Given the description of an element on the screen output the (x, y) to click on. 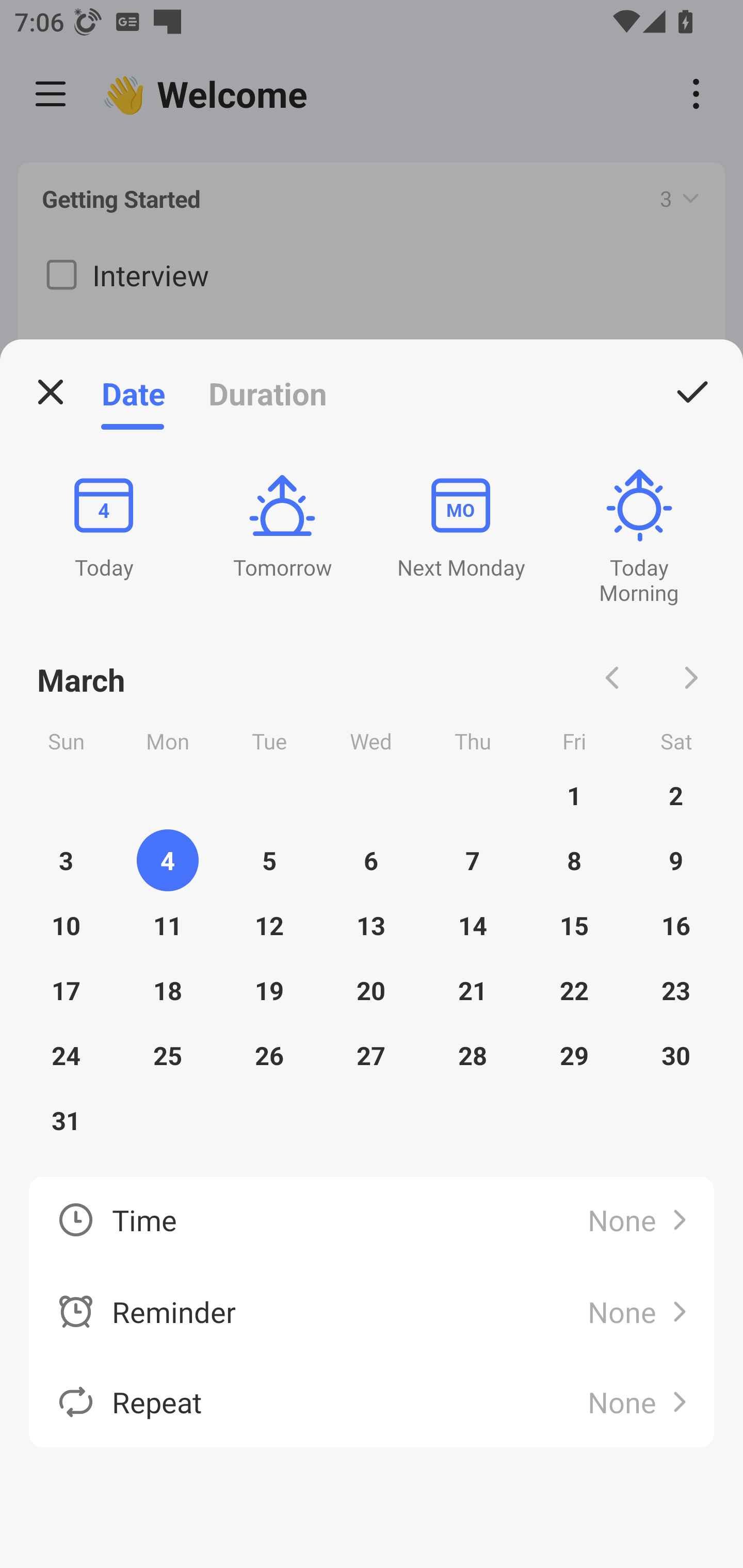
Duration (267, 393)
4 Today (103, 524)
Tomorrow (282, 524)
MO Next Monday (460, 524)
Today
Morning (638, 537)
March (81, 678)
Time None (371, 1221)
Reminder None (371, 1311)
Repeat None (371, 1401)
